Given the description of an element on the screen output the (x, y) to click on. 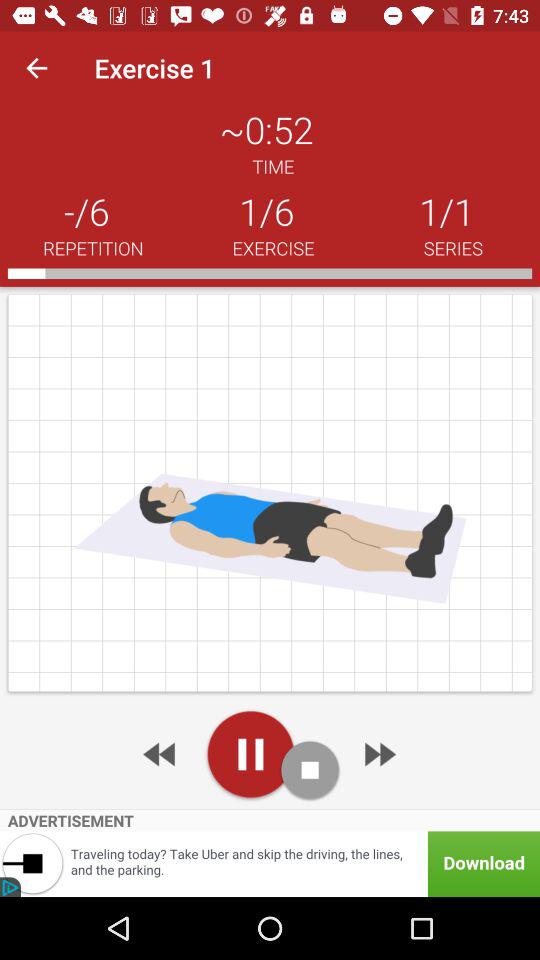
pause (250, 754)
